Given the description of an element on the screen output the (x, y) to click on. 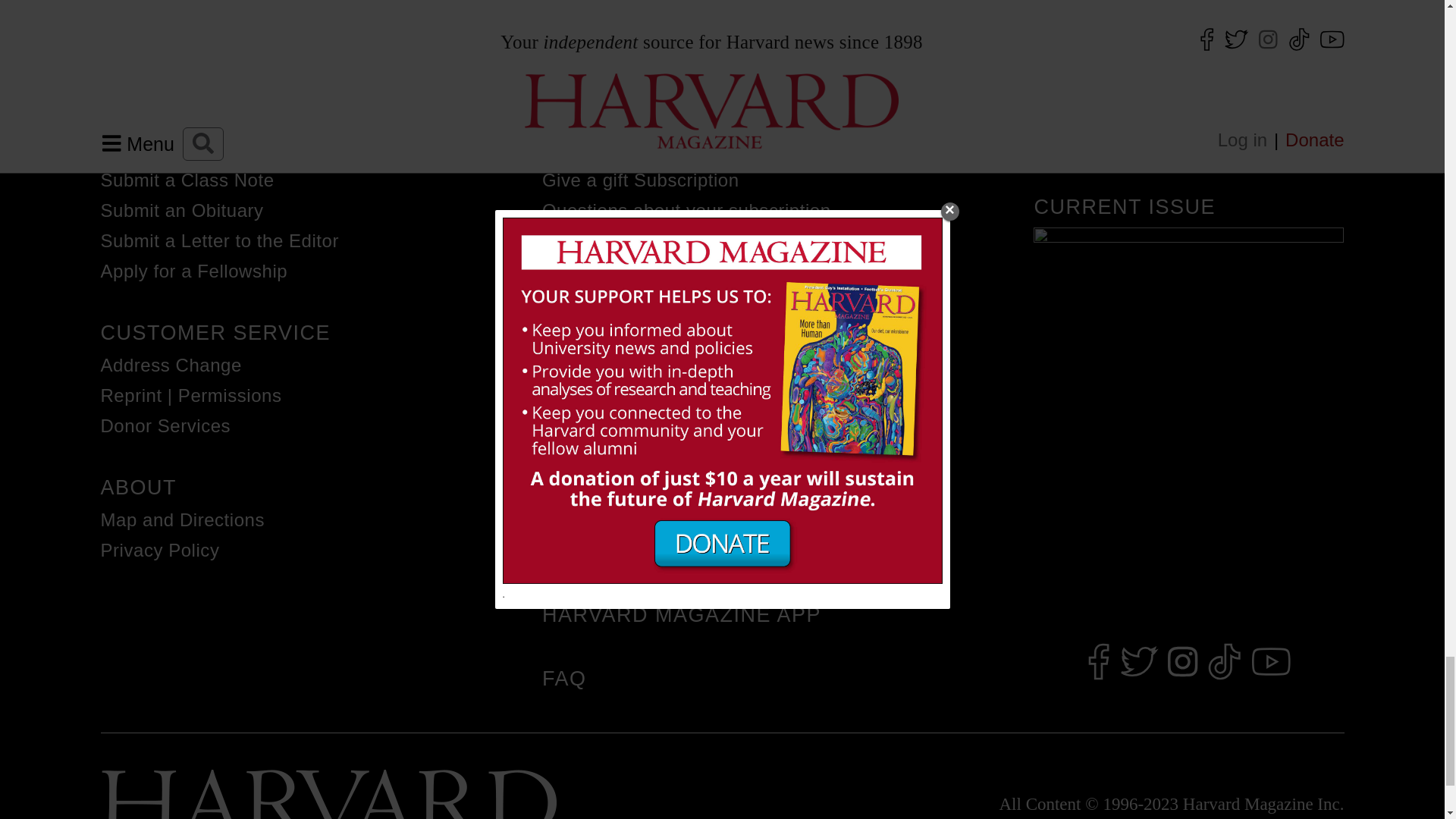
facebook (1098, 663)
